Given the description of an element on the screen output the (x, y) to click on. 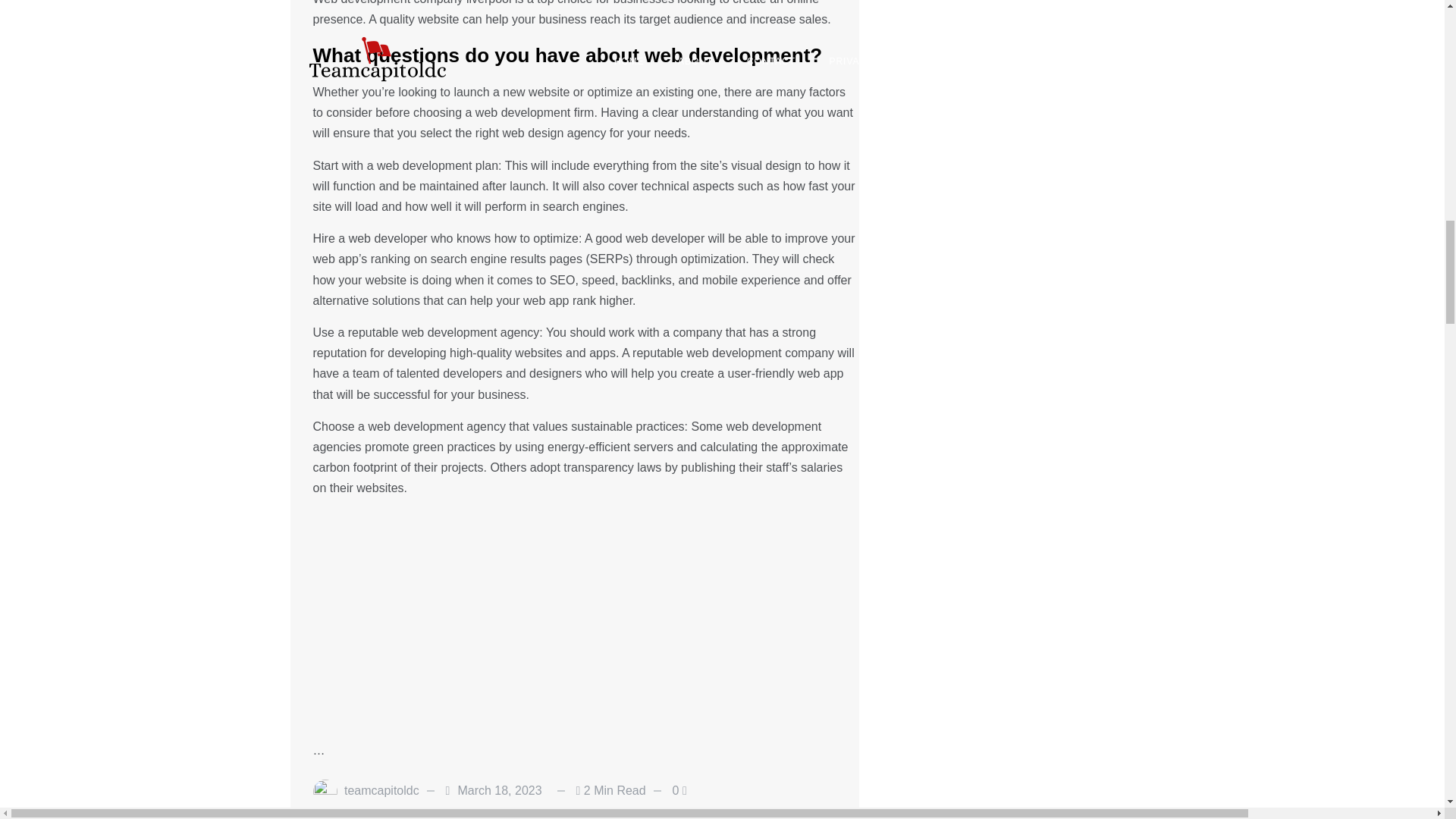
teamcapitoldc (381, 791)
March 18, 2023 (499, 791)
Web development company liverpool (412, 2)
SERPs (608, 258)
